Given the description of an element on the screen output the (x, y) to click on. 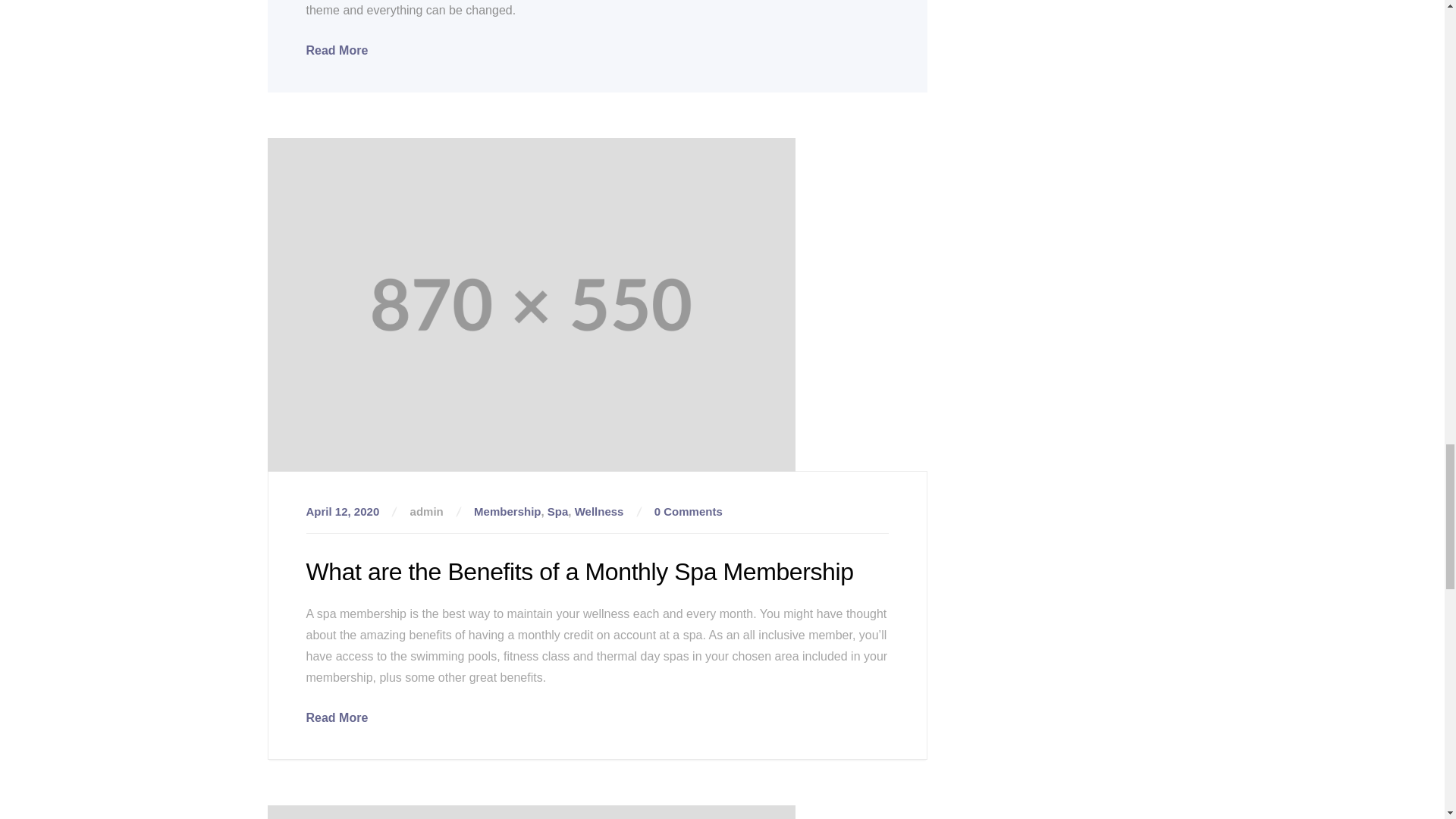
Why Thermen WordPress theme is The Best for Business (336, 50)
What are the Benefits of a Monthly Spa Membership (336, 717)
